Given the description of an element on the screen output the (x, y) to click on. 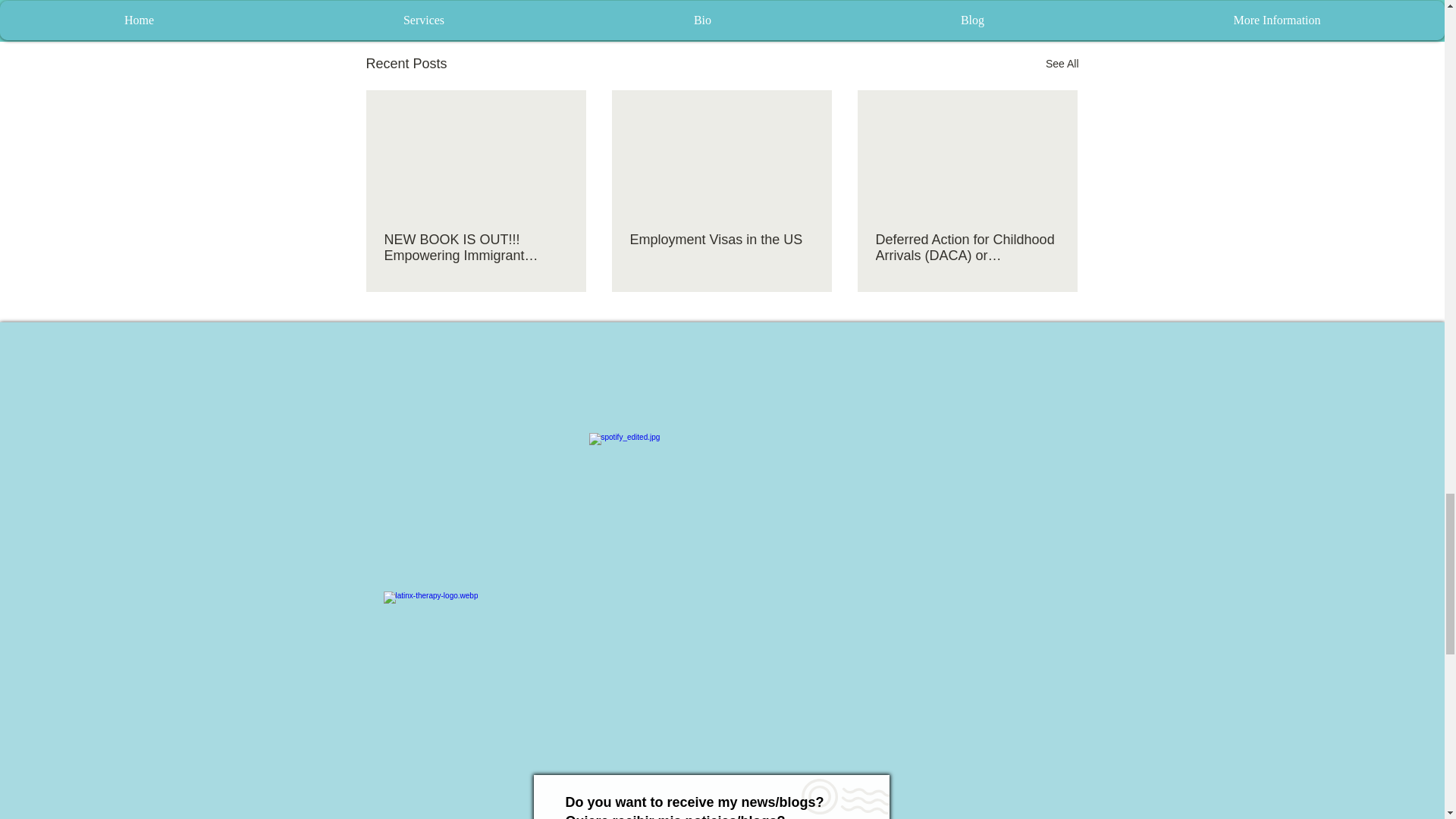
Employment Visas in the US (720, 239)
See All (1061, 64)
LatinX Therapy (467, 659)
